Given the description of an element on the screen output the (x, y) to click on. 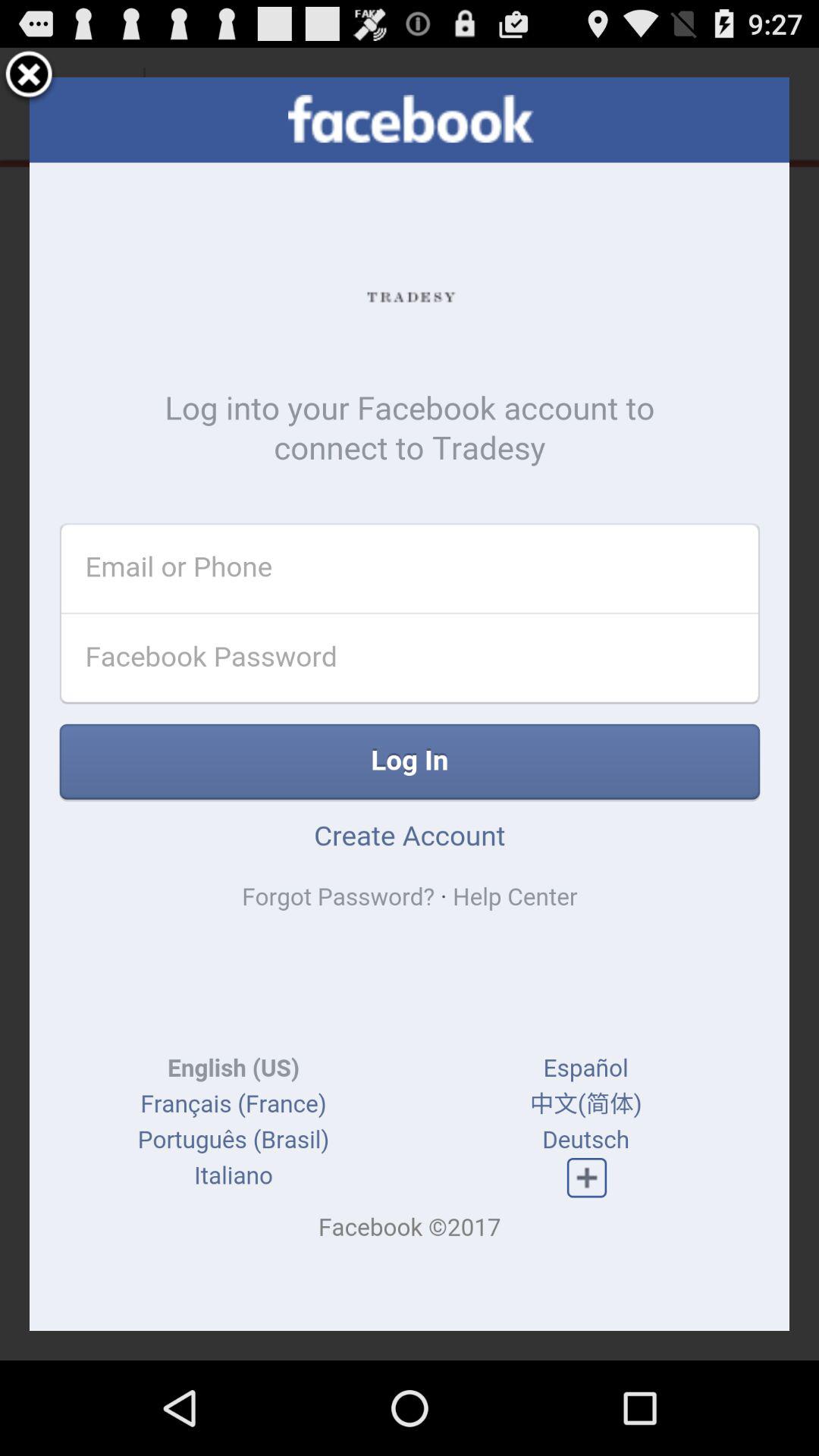
the button is used to close the page (29, 76)
